Given the description of an element on the screen output the (x, y) to click on. 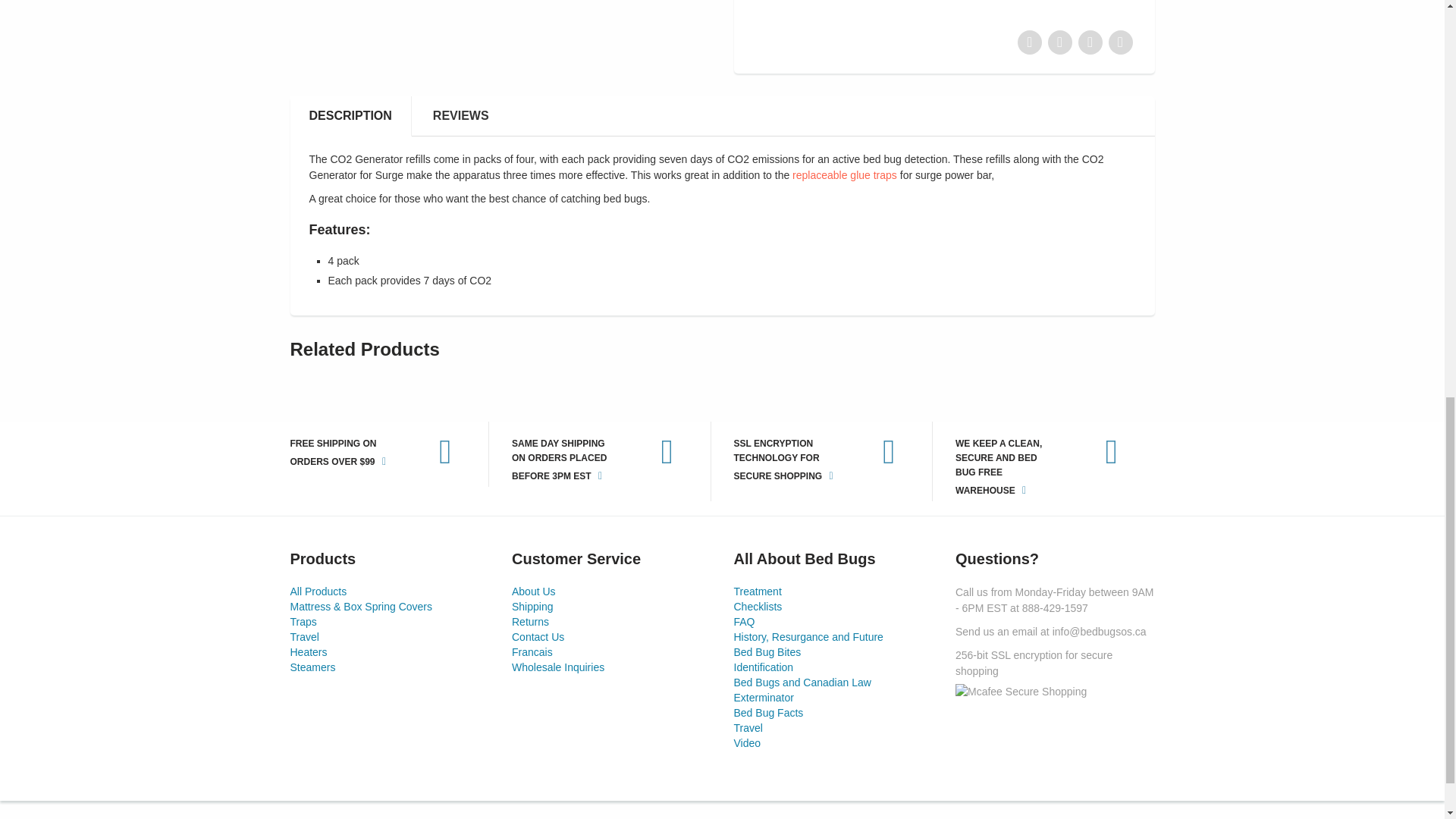
replaceable glue traps (844, 174)
